Given the description of an element on the screen output the (x, y) to click on. 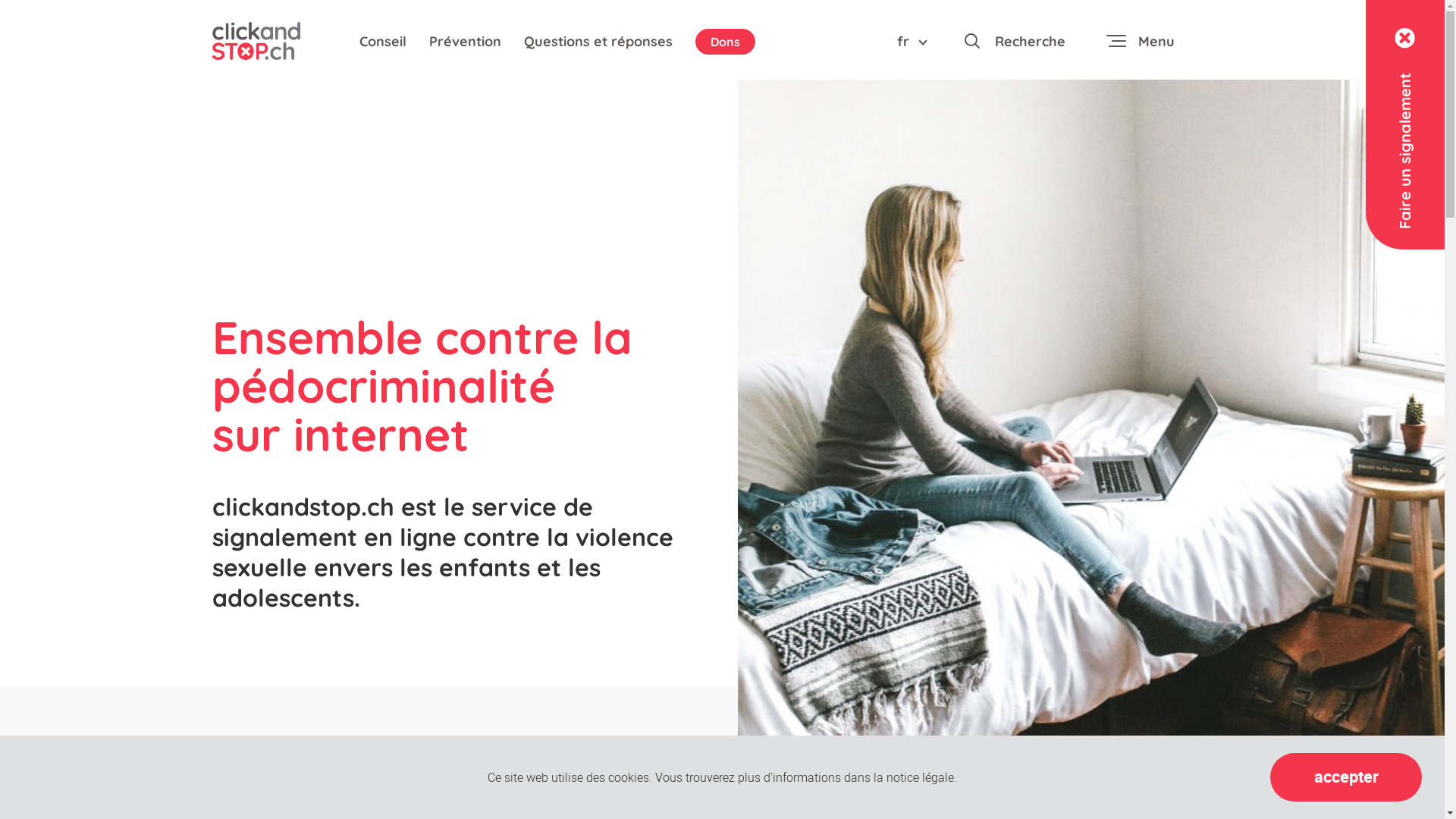
Conseil Element type: text (382, 41)
Faire un signalement Element type: text (1404, 124)
Menu Element type: text (1140, 40)
Dons Element type: text (725, 41)
Recherche Element type: text (1012, 45)
accepter Element type: text (1345, 777)
